Given the description of an element on the screen output the (x, y) to click on. 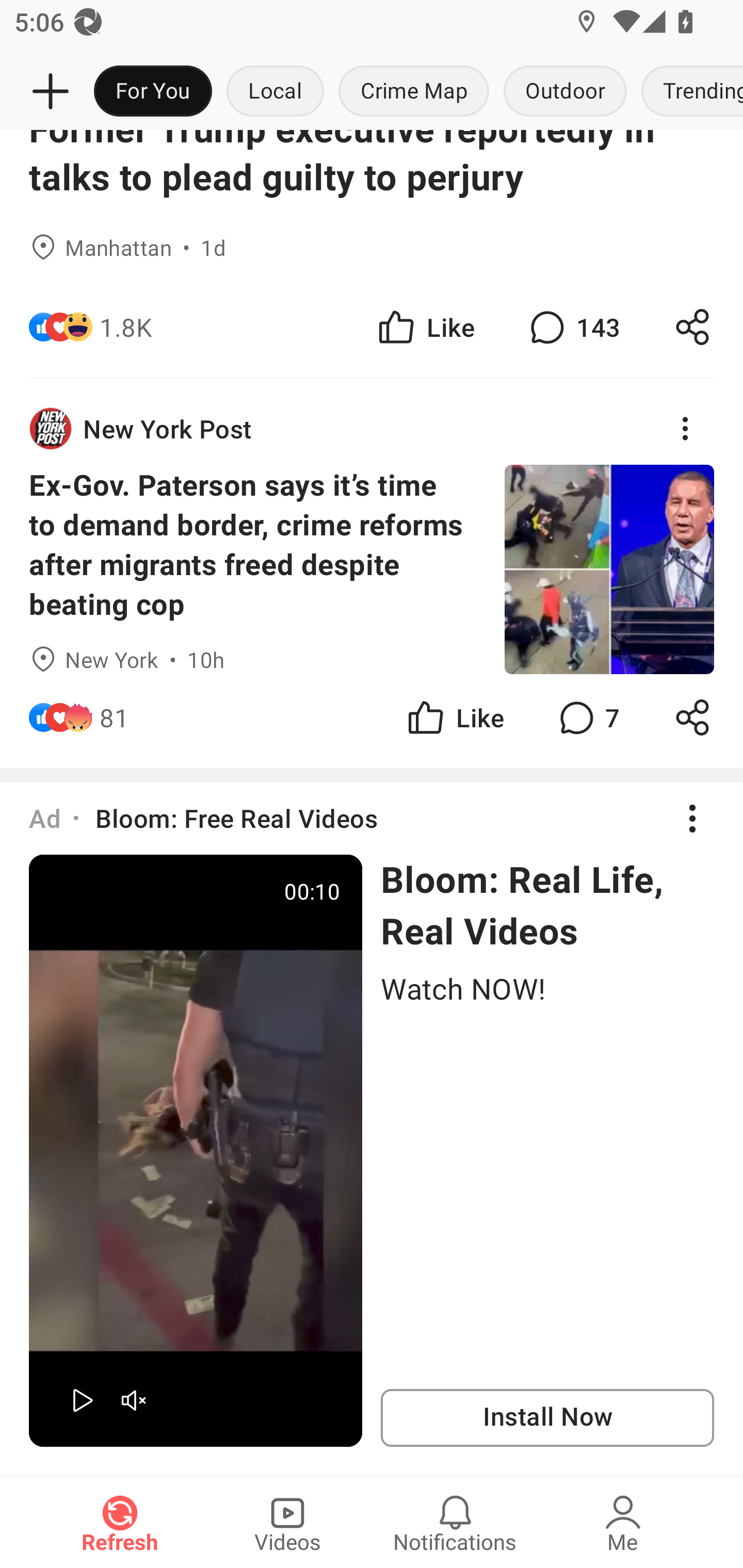
For You (152, 91)
Local (275, 91)
Crime Map (413, 91)
Outdoor (564, 91)
Trending (688, 91)
1.8K (125, 326)
Like (425, 326)
143 (572, 326)
81 (114, 717)
Like (454, 717)
7 (587, 717)
Bloom: Free Real Videos (236, 818)
00:10 (195, 1150)
Bloom: Real Life, Real Videos (547, 904)
Watch NOW! (547, 988)
Install Now (547, 1418)
Videos (287, 1522)
Notifications (455, 1522)
Me (622, 1522)
